Given the description of an element on the screen output the (x, y) to click on. 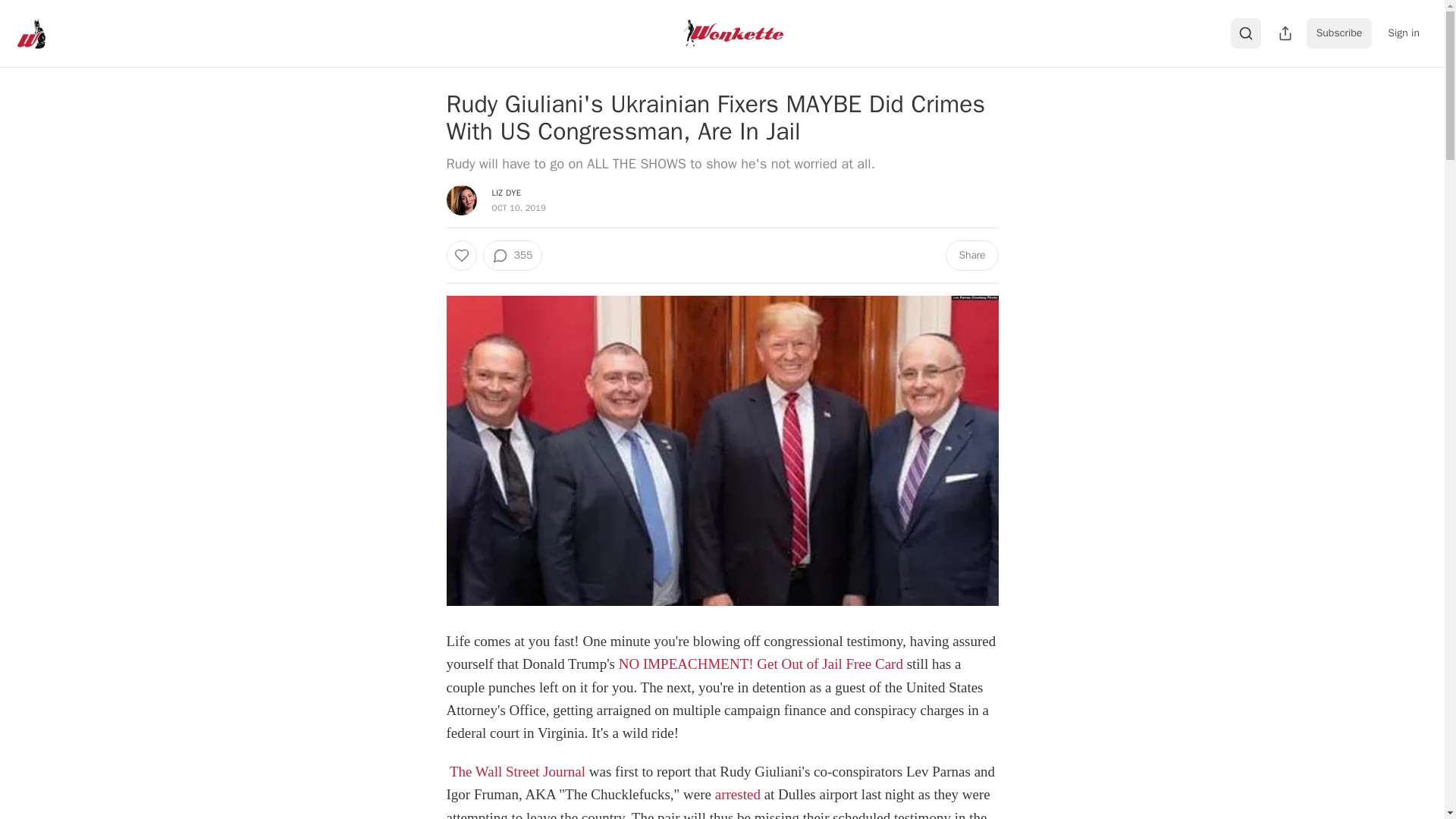
The Wall Street Journal (517, 771)
NO IMPEACHMENT! Get Out of Jail Free Card (760, 663)
Share (970, 255)
Subscribe (1339, 33)
Sign in (1403, 33)
355 (511, 255)
LIZ DYE (506, 192)
arrested (737, 794)
